Given the description of an element on the screen output the (x, y) to click on. 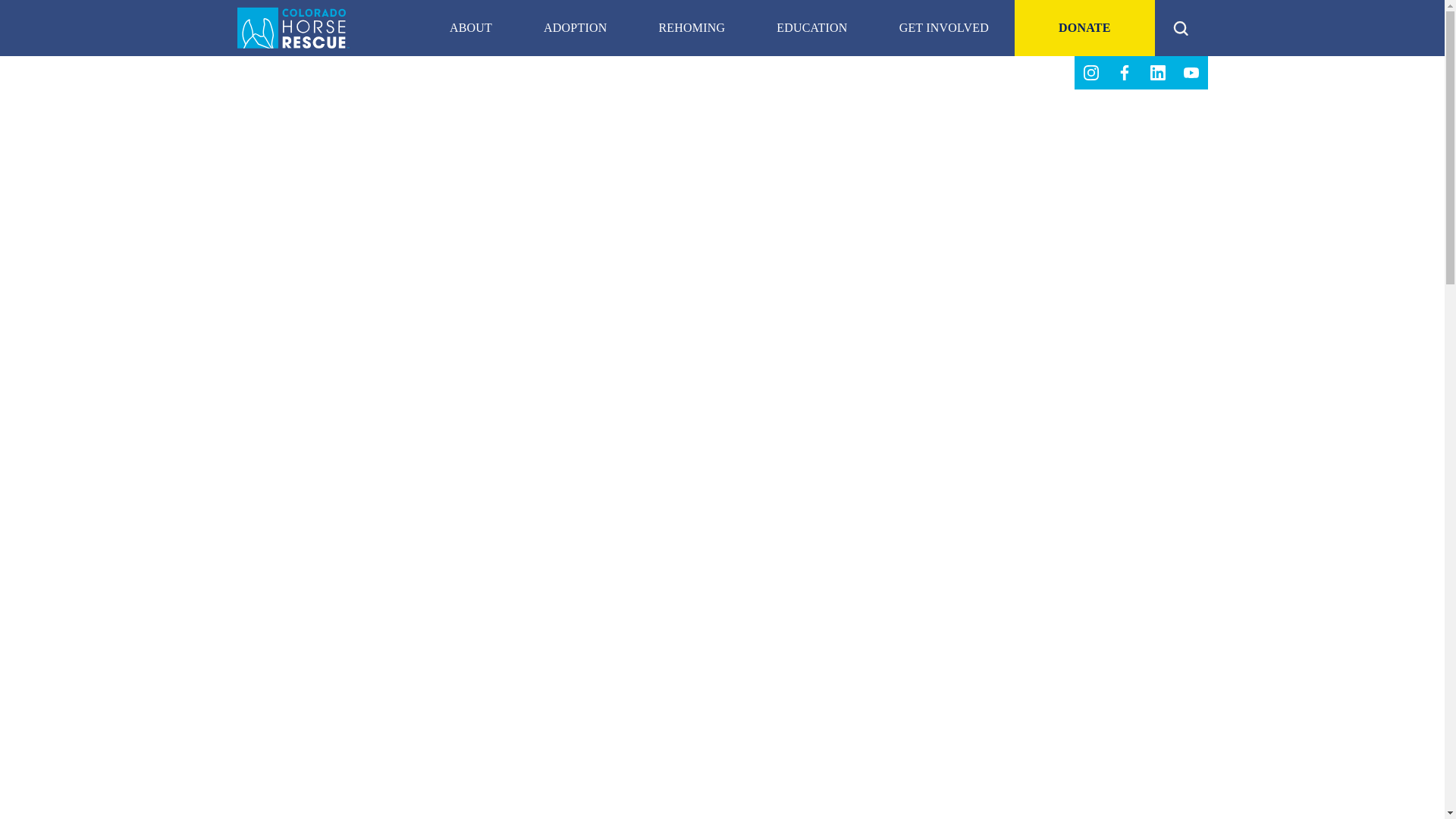
EDUCATION (811, 28)
ABOUT (470, 28)
ADOPTION (574, 28)
DONATE (1084, 28)
REHOMING (691, 28)
Colorado Horse Rescue (292, 27)
GET INVOLVED (943, 28)
